Given the description of an element on the screen output the (x, y) to click on. 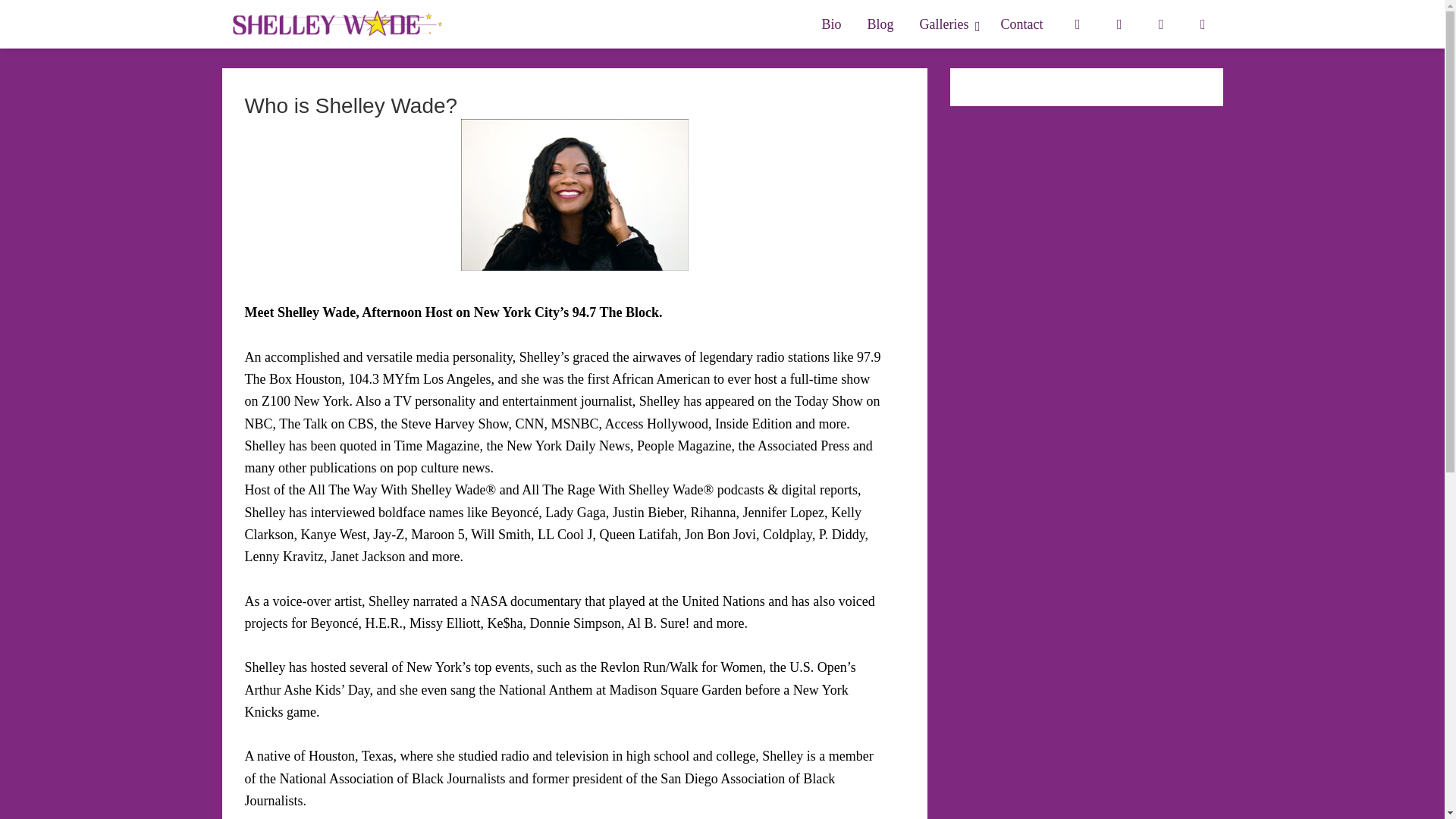
Blog (880, 24)
Contact (1015, 24)
Bio (1021, 24)
Galleries (830, 24)
Shelley Wade (947, 24)
